Given the description of an element on the screen output the (x, y) to click on. 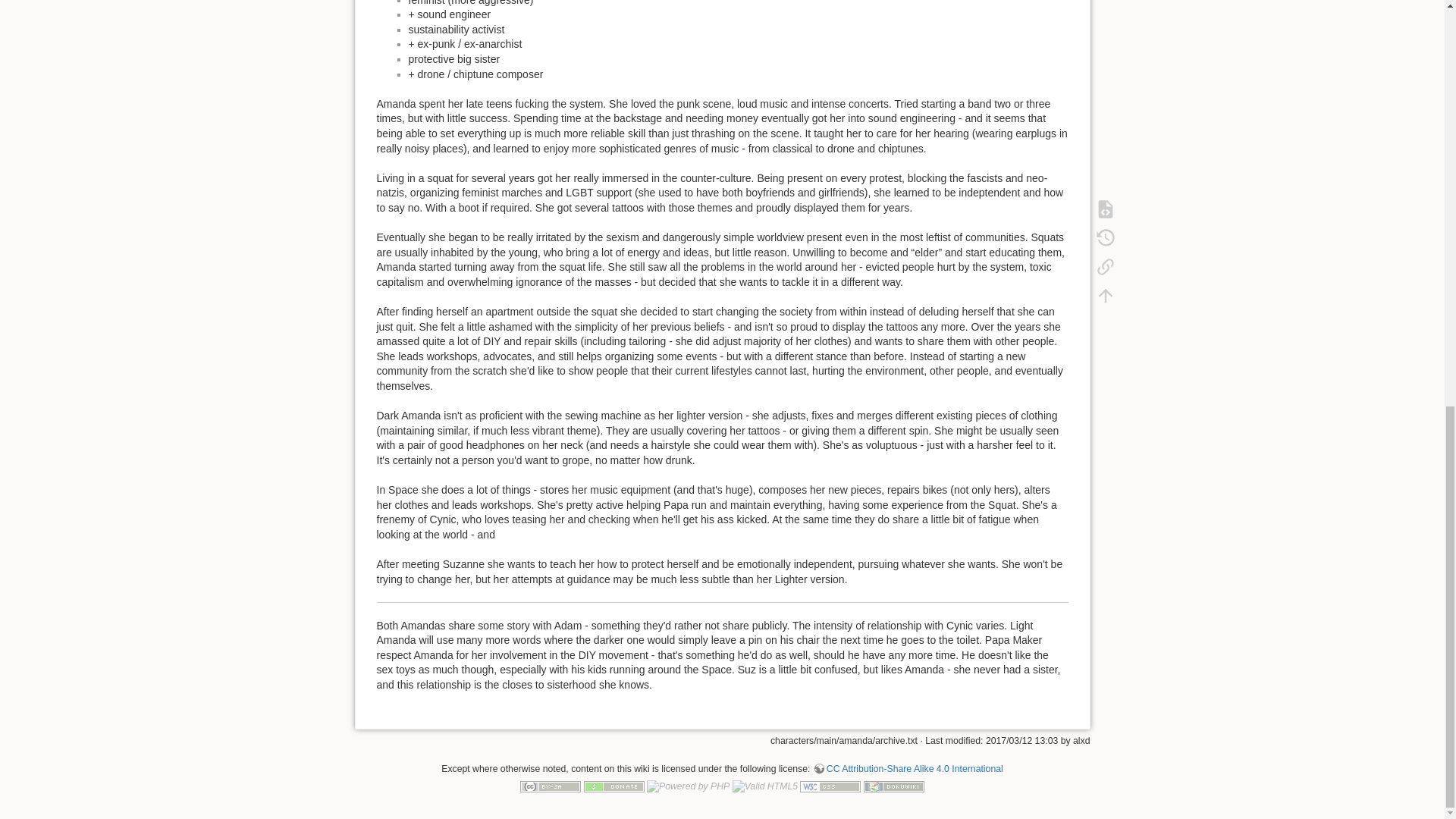
Donate (614, 786)
CC Attribution-Share Alike 4.0 International (907, 768)
